Given the description of an element on the screen output the (x, y) to click on. 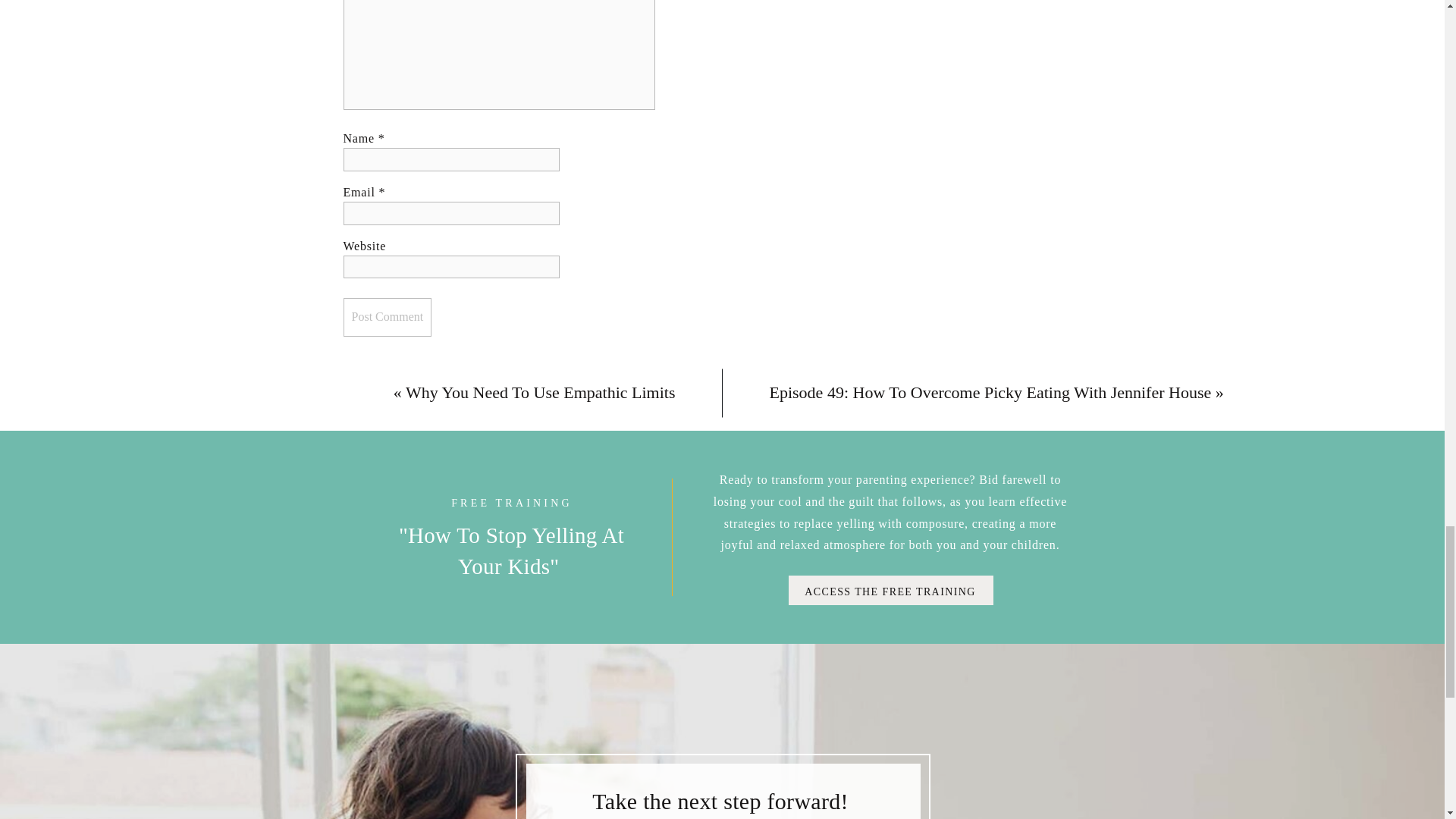
Post Comment (386, 317)
Why You Need To Use Empathic Limits (540, 392)
Post Comment (386, 317)
Episode 49: How To Overcome Picky Eating With Jennifer House (989, 392)
